Given the description of an element on the screen output the (x, y) to click on. 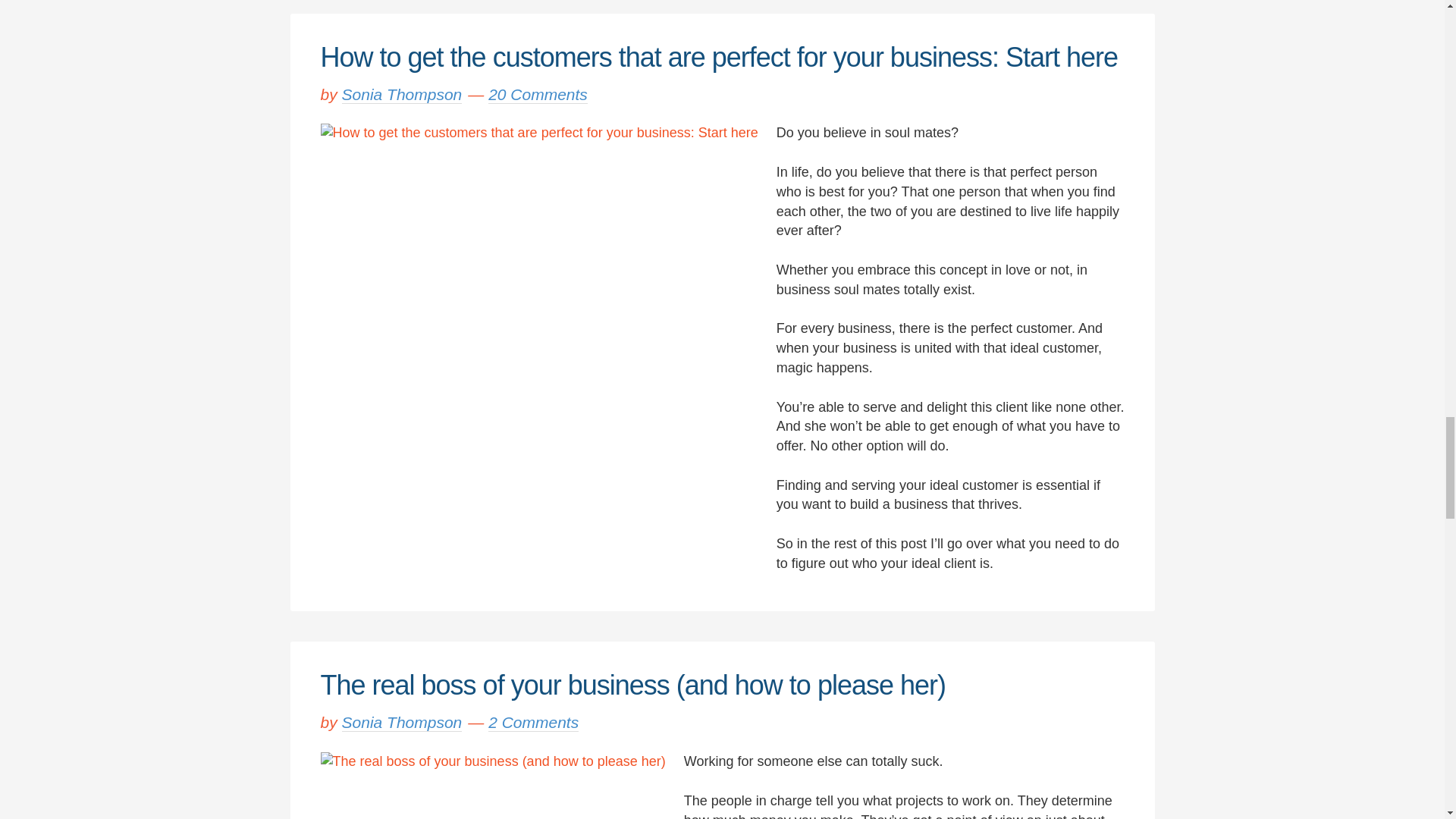
Sonia Thompson (402, 94)
20 Comments (537, 94)
2 Comments (532, 722)
Sonia Thompson (402, 722)
